Given the description of an element on the screen output the (x, y) to click on. 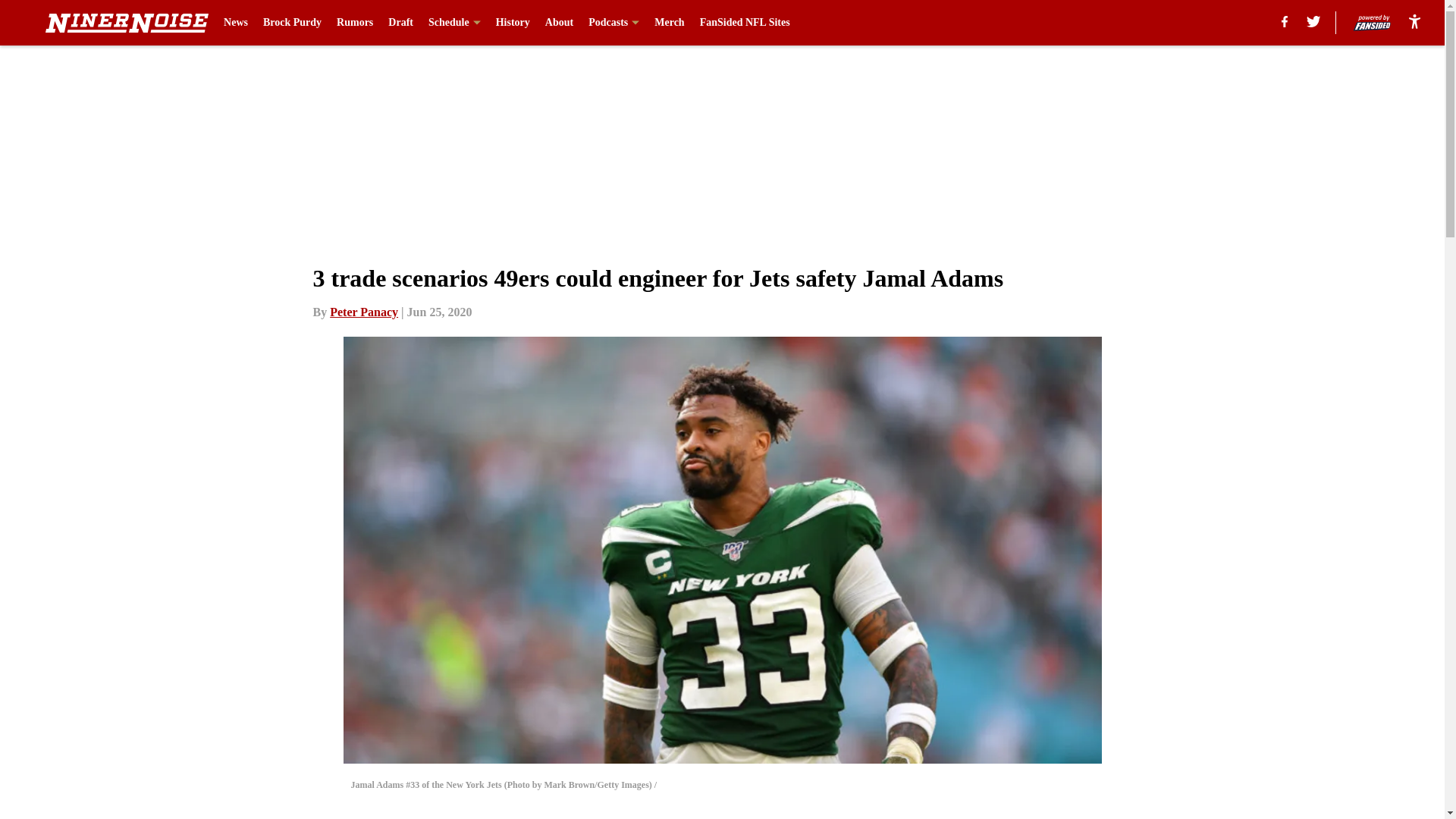
Rumors (354, 22)
News (235, 22)
Brock Purdy (292, 22)
FanSided NFL Sites (745, 22)
Merch (668, 22)
About (558, 22)
Draft (400, 22)
History (512, 22)
Peter Panacy (363, 311)
